Given the description of an element on the screen output the (x, y) to click on. 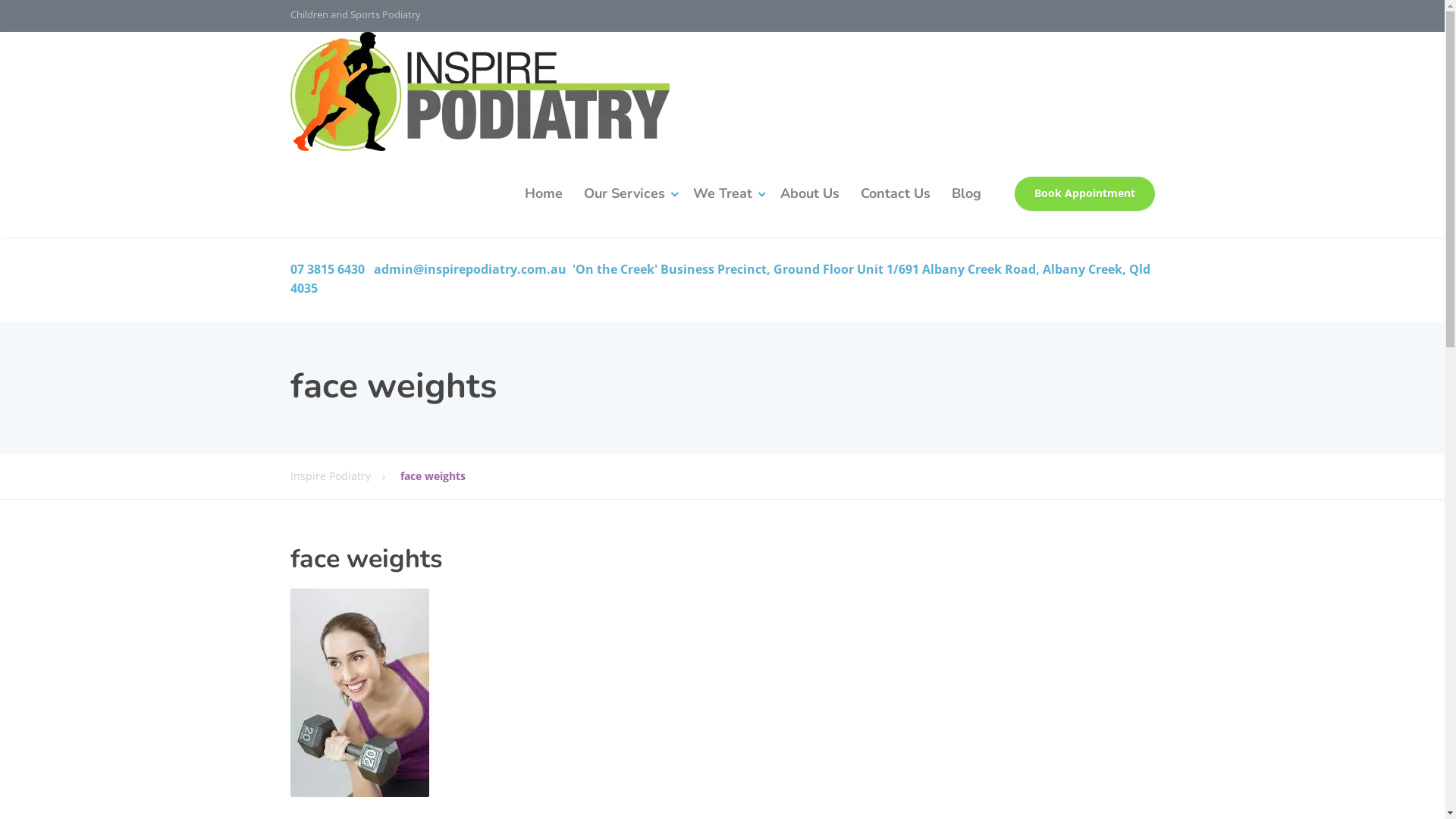
Inspire Podiatry Element type: hover (478, 90)
Home Element type: text (543, 193)
07 3815 6430 Element type: text (326, 268)
Contact Us Element type: text (894, 193)
About Us Element type: text (808, 193)
Our Services Element type: text (627, 193)
Book Appointment Element type: text (1084, 193)
We Treat Element type: text (725, 193)
admin@inspirepodiatry.com.au Element type: text (469, 268)
Blog Element type: text (965, 193)
Inspire Podiatry Element type: text (344, 476)
